Given the description of an element on the screen output the (x, y) to click on. 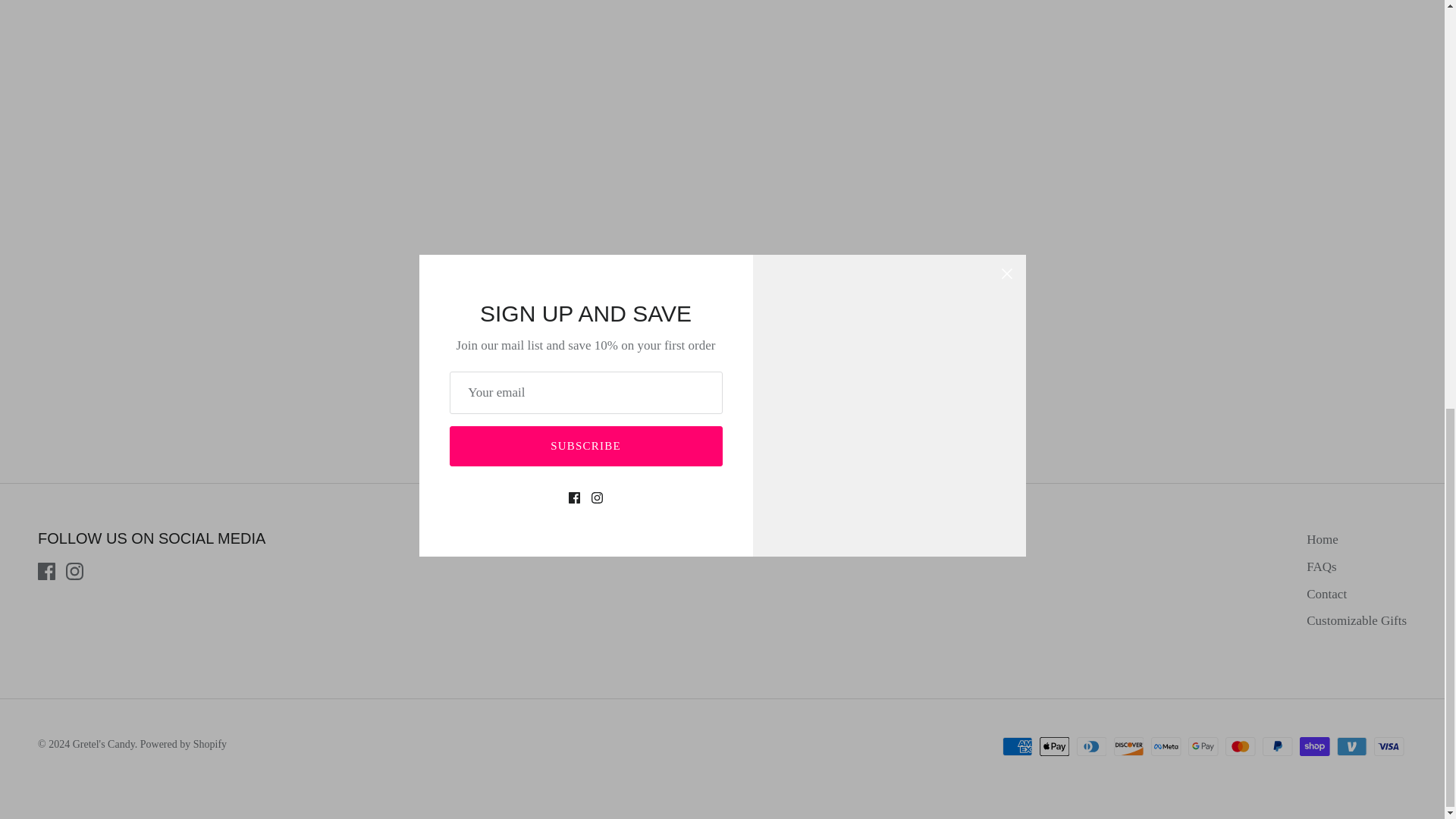
Meta Pay (1165, 746)
American Express (1017, 746)
Visa (1388, 746)
Instagram (73, 570)
Mastercard (1240, 746)
PayPal (1277, 746)
Discover (1128, 746)
Shop Pay (1314, 746)
Facebook (46, 570)
Google Pay (1203, 746)
Venmo (1351, 746)
Diners Club (1091, 746)
Apple Pay (1054, 746)
